Given the description of an element on the screen output the (x, y) to click on. 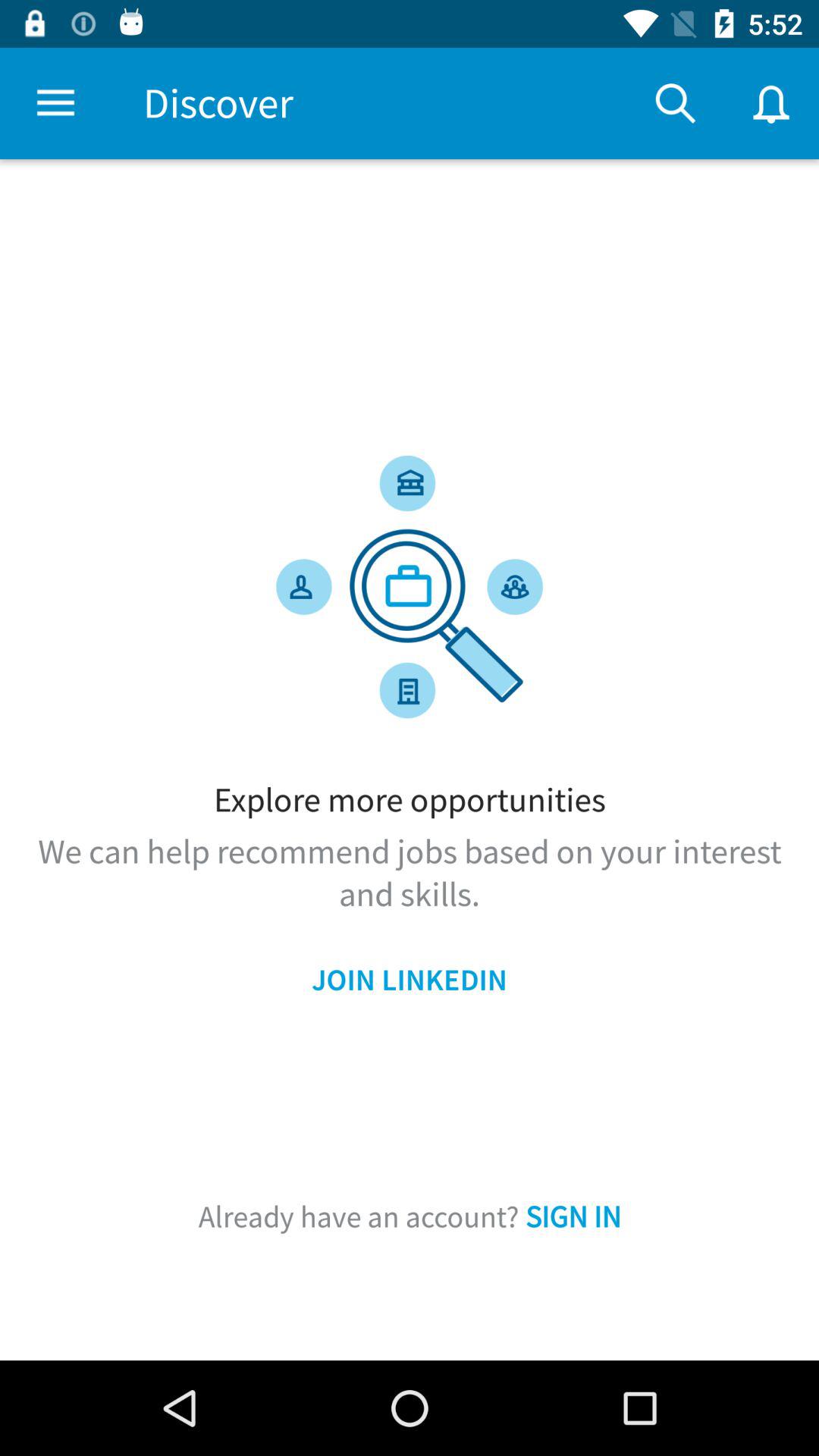
turn on icon next to the discover (675, 103)
